Given the description of an element on the screen output the (x, y) to click on. 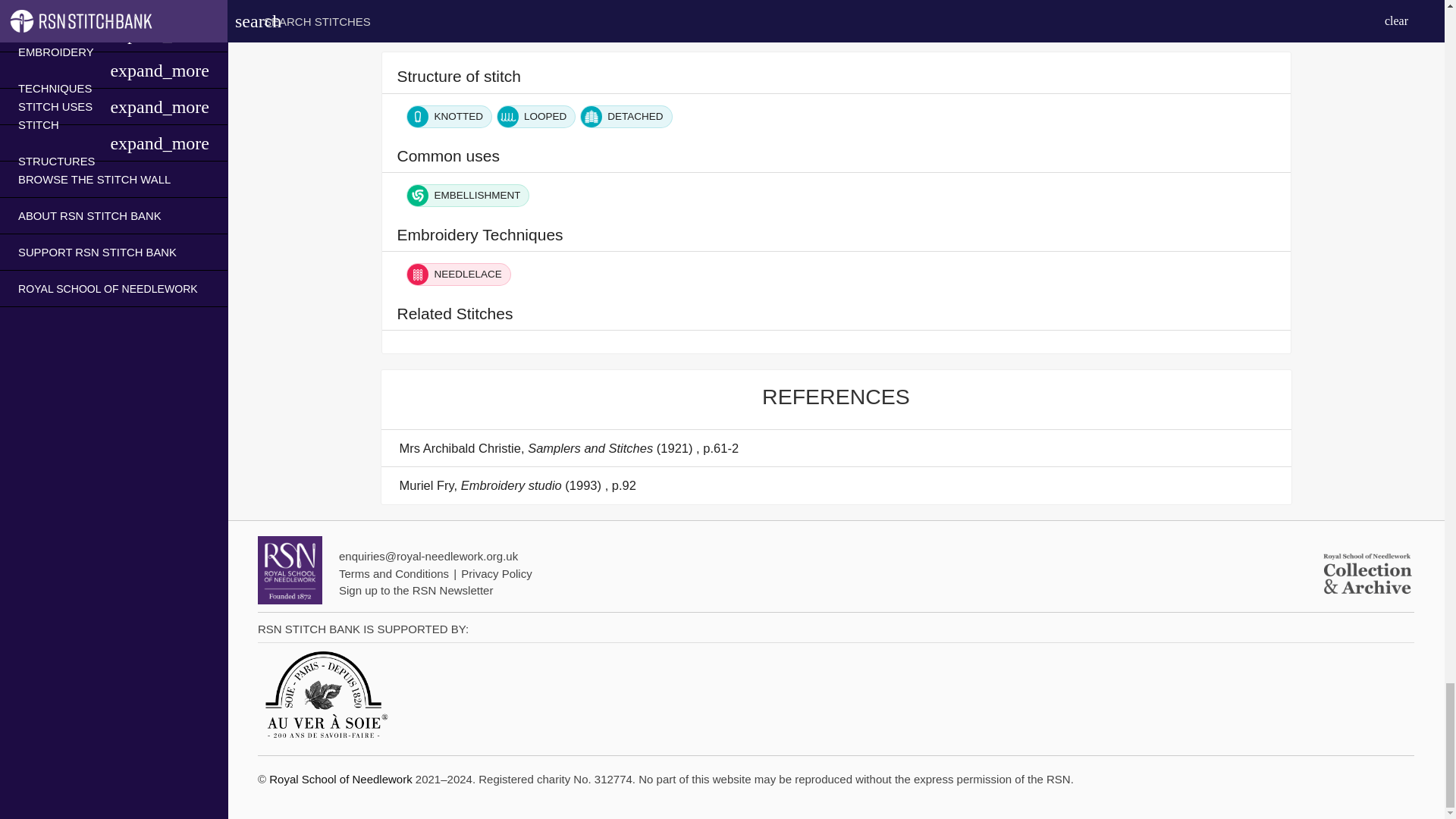
PIP (1251, 23)
Disable captions (1199, 23)
Terms and Conditions (393, 573)
0 (737, 23)
1 (1154, 23)
EMBELLISHMENT (467, 195)
LOOPED (535, 115)
Settings (1224, 23)
Play (393, 23)
Unmute (1114, 23)
Enter fullscreen (1278, 23)
DETACHED (625, 115)
NEEDLELACE (458, 273)
KNOTTED (449, 115)
